Given the description of an element on the screen output the (x, y) to click on. 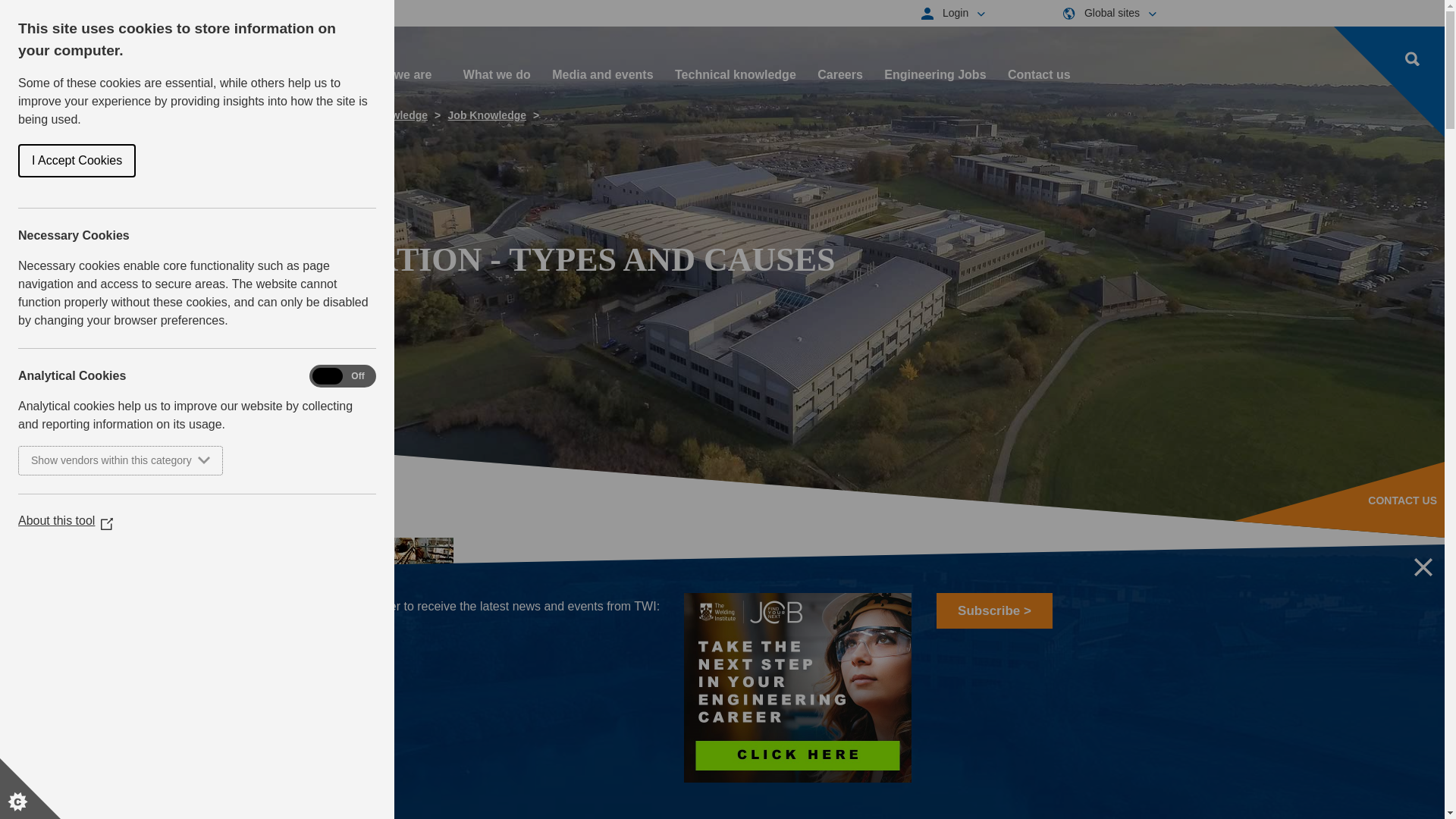
Show vendors within this category (86, 460)
I Accept Cookies (20, 160)
